Given the description of an element on the screen output the (x, y) to click on. 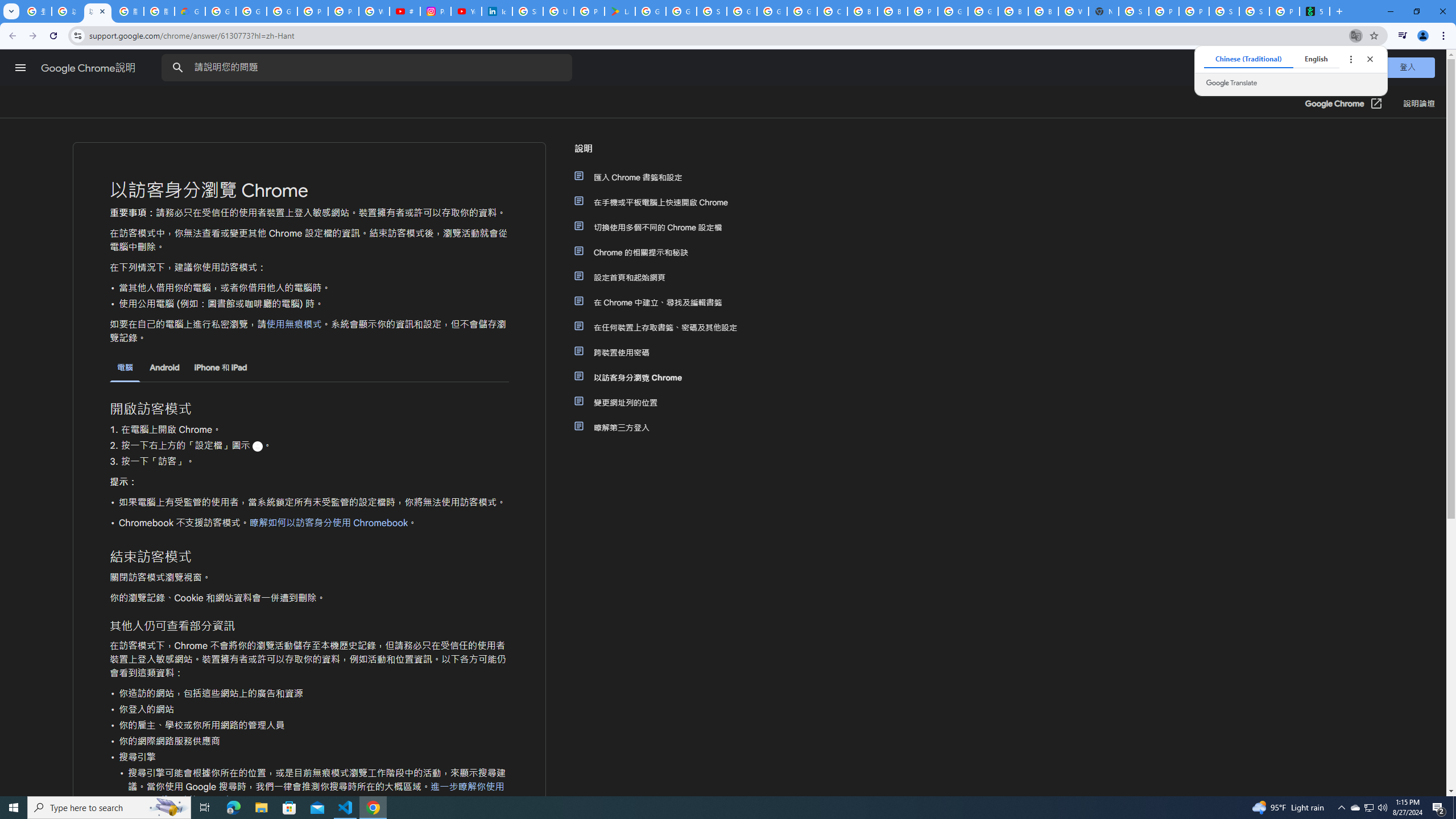
YouTube Culture & Trends - On The Rise: Handcam Videos (465, 11)
Translate this page (1355, 35)
